Given the description of an element on the screen output the (x, y) to click on. 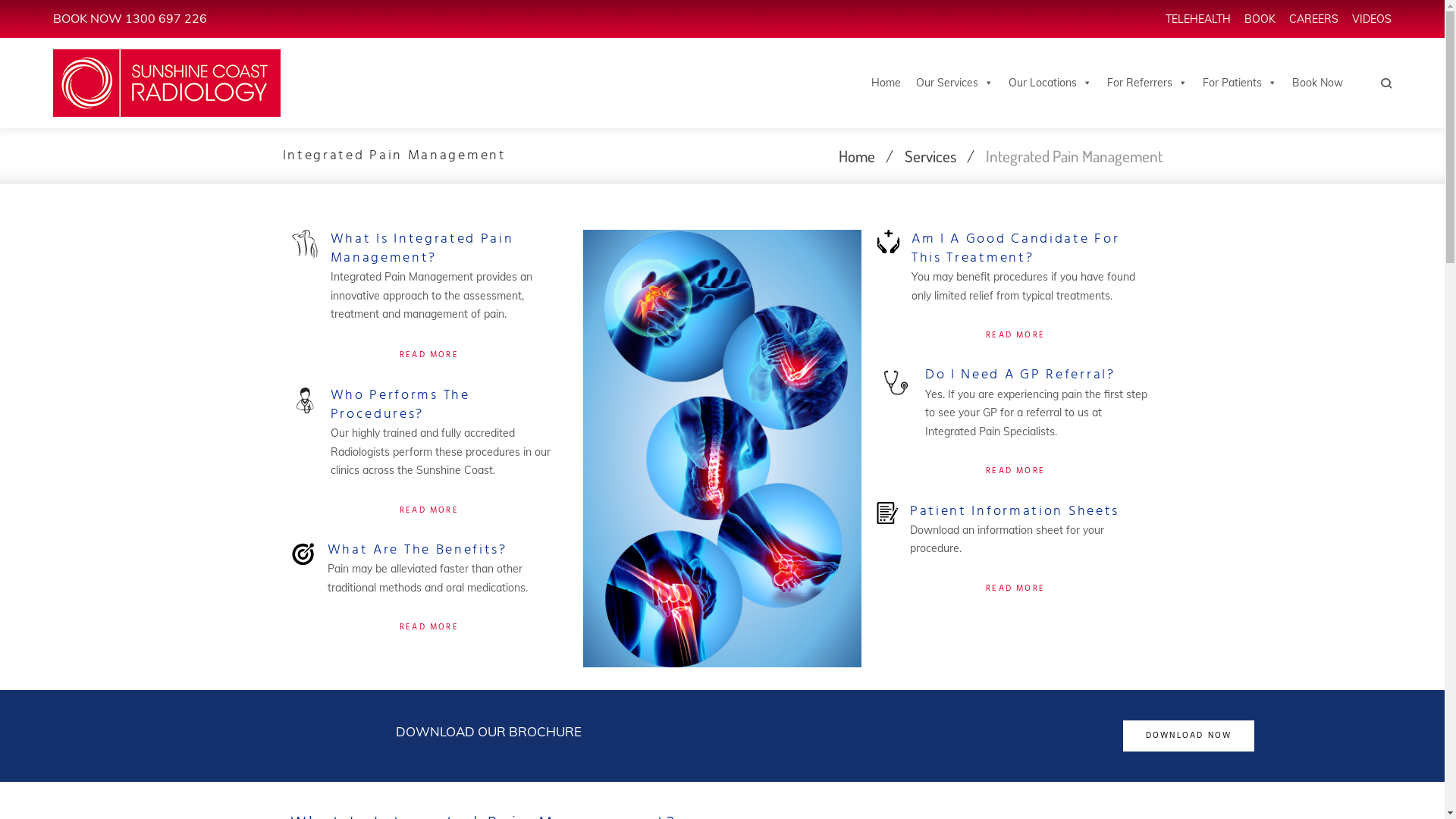
Our Services Element type: text (954, 82)
Our Locations Element type: text (1050, 82)
CAREERS Element type: text (1313, 18)
READ MORE Element type: text (1015, 470)
VIDEOS Element type: text (1371, 18)
READ MORE Element type: text (1015, 588)
Book Now Element type: text (1317, 82)
READ MORE Element type: text (429, 626)
Services Element type: text (929, 155)
READ MORE Element type: text (1015, 335)
For Patients Element type: text (1239, 82)
Home Element type: text (856, 155)
TELEHEALTH Element type: text (1197, 18)
READ MORE Element type: text (429, 510)
For Referrers Element type: text (1147, 82)
Home Element type: text (885, 82)
DOWNLOAD NOW Element type: text (1188, 735)
READ MORE Element type: text (429, 354)
BOOK Element type: text (1259, 18)
BOOK NOW 1300 697 226 Element type: text (130, 18)
